Given the description of an element on the screen output the (x, y) to click on. 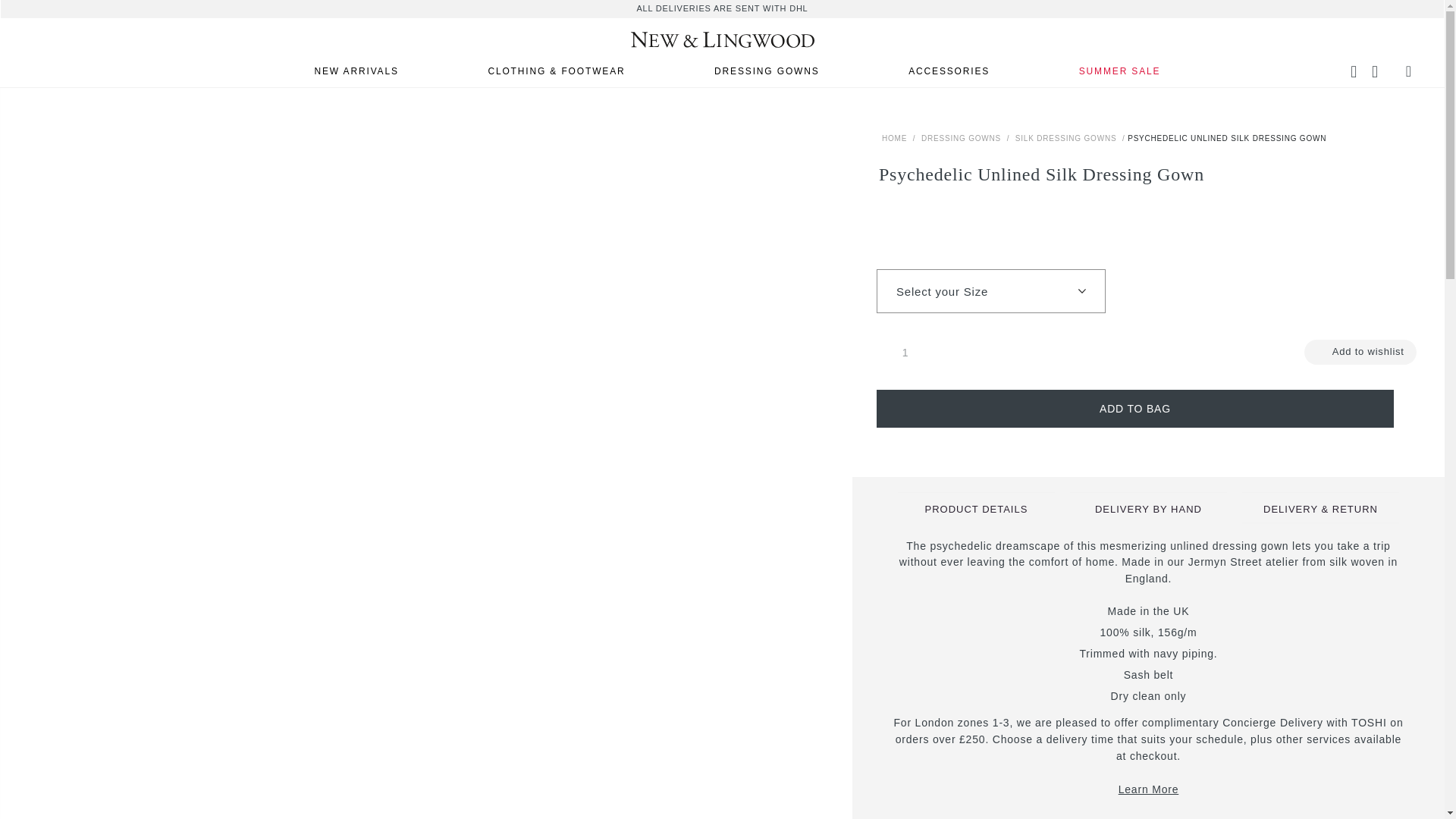
MY BAG (1410, 70)
NEW ARRIVALS (355, 70)
